Given the description of an element on the screen output the (x, y) to click on. 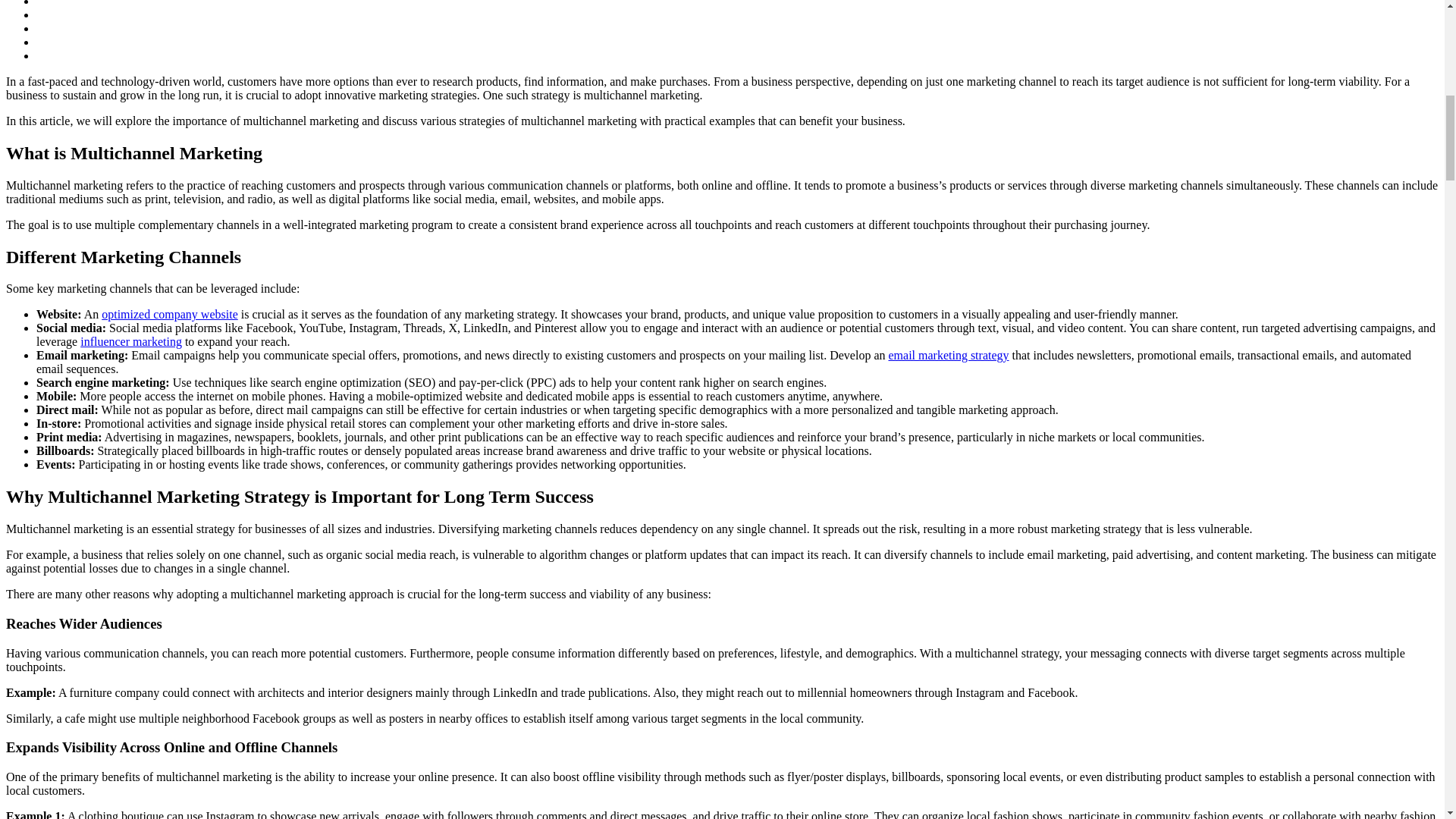
influencer marketing (131, 341)
email marketing strategy (948, 354)
optimized company website (169, 314)
